Given the description of an element on the screen output the (x, y) to click on. 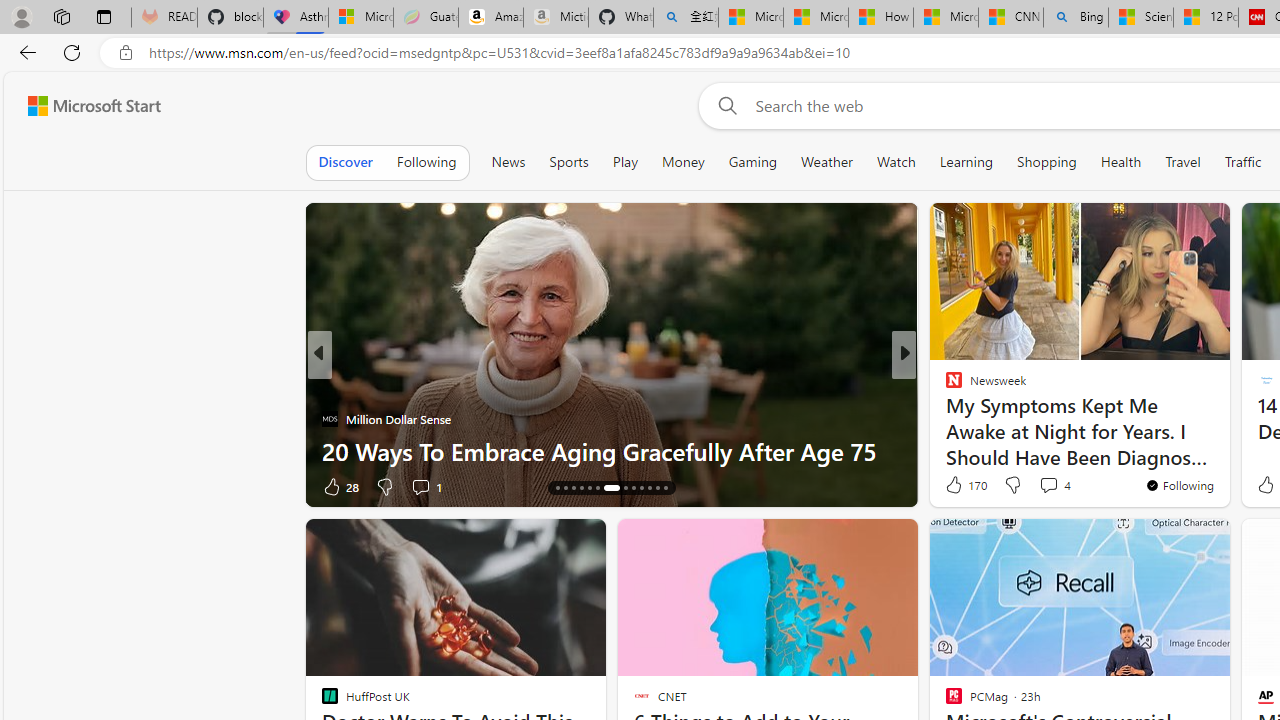
View comments 34 Comment (1042, 485)
You're following FOX News (253, 490)
104 Like (342, 486)
170 Like (964, 484)
View comments 5 Comment (1036, 485)
View comments 231 Comment (1035, 485)
Pocket-lint (944, 418)
